Given the description of an element on the screen output the (x, y) to click on. 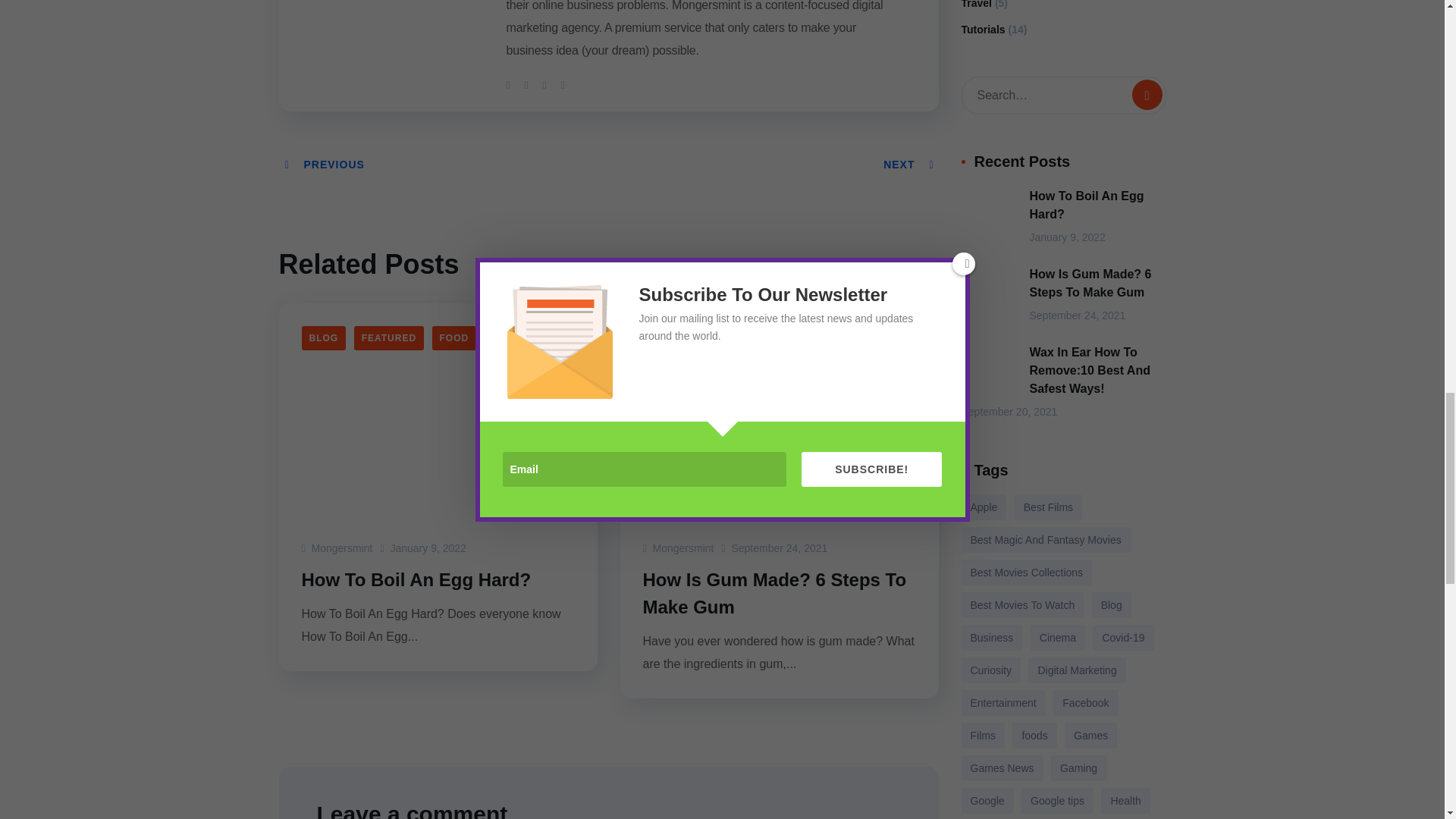
Instagram (562, 84)
How To Boil An Egg Hard? 3 (437, 409)
LinkedIn (546, 84)
How Is Gum Made? 6 Steps To Make Gum 4 (779, 409)
How Is Gum Made? 6 Steps To Make Gum 6 (987, 294)
Wax In Ear How To Remove:10 Best And Safest Ways! 7 (987, 371)
Facebook (527, 84)
How To Boil An Egg Hard? 5 (987, 215)
Twitter (509, 84)
